Given the description of an element on the screen output the (x, y) to click on. 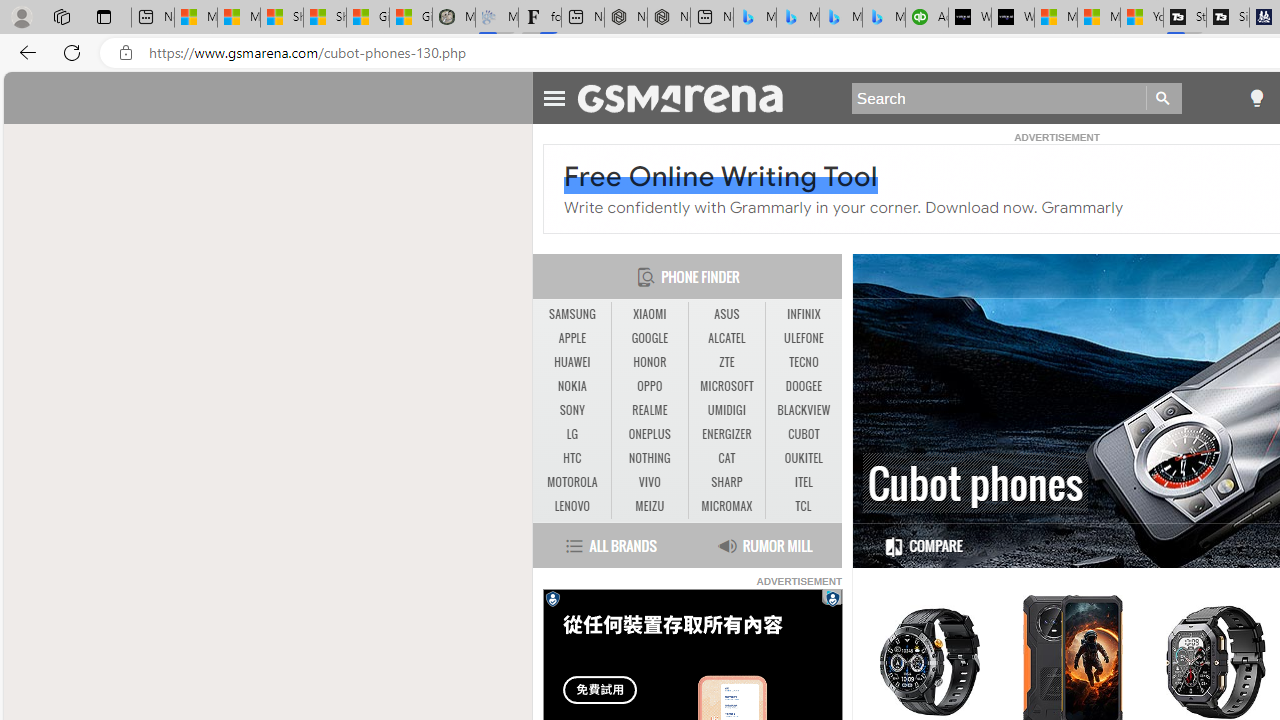
MOTOROLA (571, 482)
DOOGEE (803, 385)
HUAWEI (571, 362)
VIVO (649, 483)
CAT (726, 458)
NOTHING (649, 457)
UMIDIGI (726, 410)
LENOVO (571, 506)
REALME (649, 411)
